Given the description of an element on the screen output the (x, y) to click on. 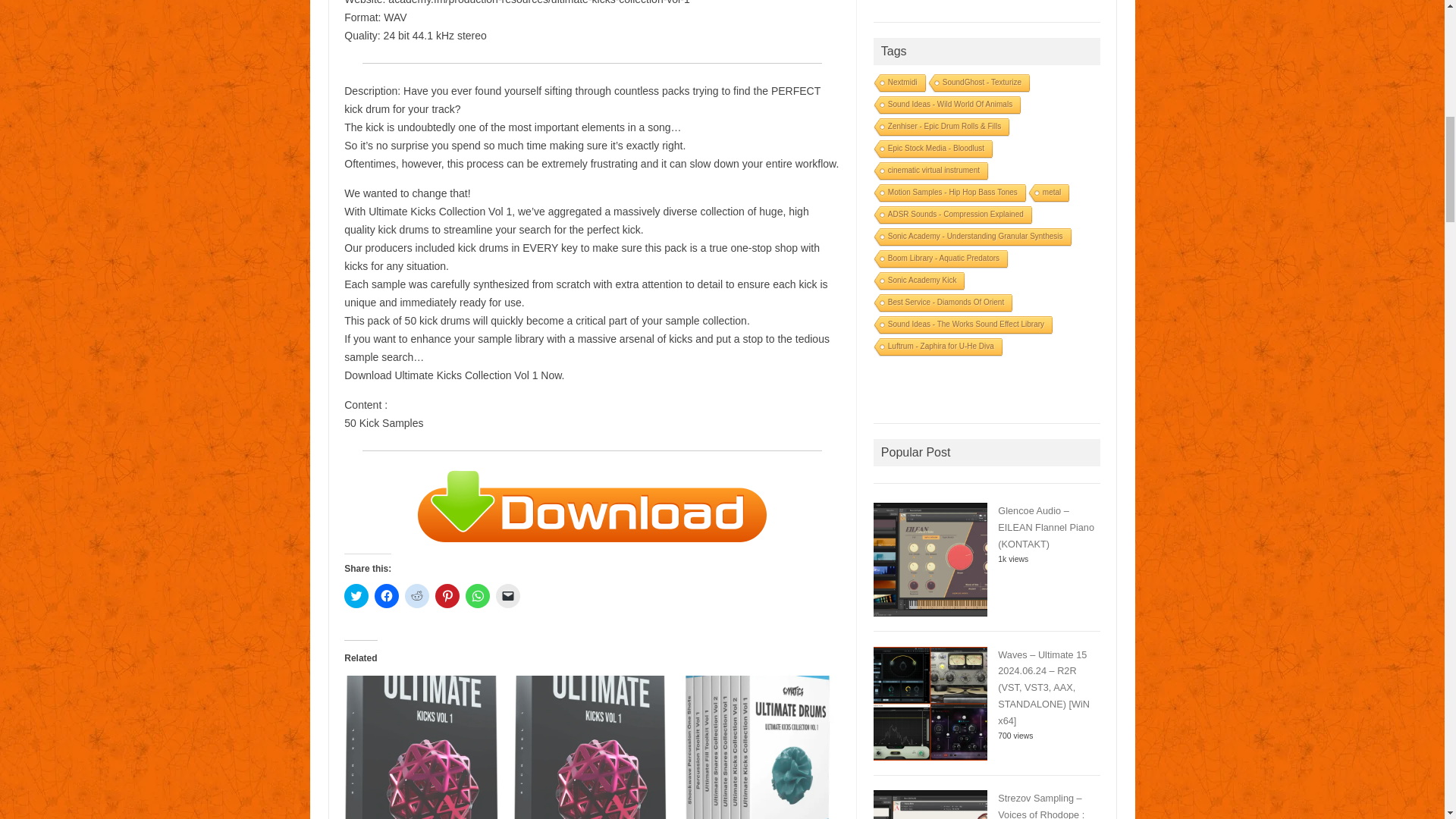
Click to share on WhatsApp (477, 595)
Click to email a link to a friend (507, 595)
Click to share on Twitter (355, 595)
Click to share on Pinterest (447, 595)
Click to share on Facebook (386, 595)
Click to share on Reddit (416, 595)
